Given the description of an element on the screen output the (x, y) to click on. 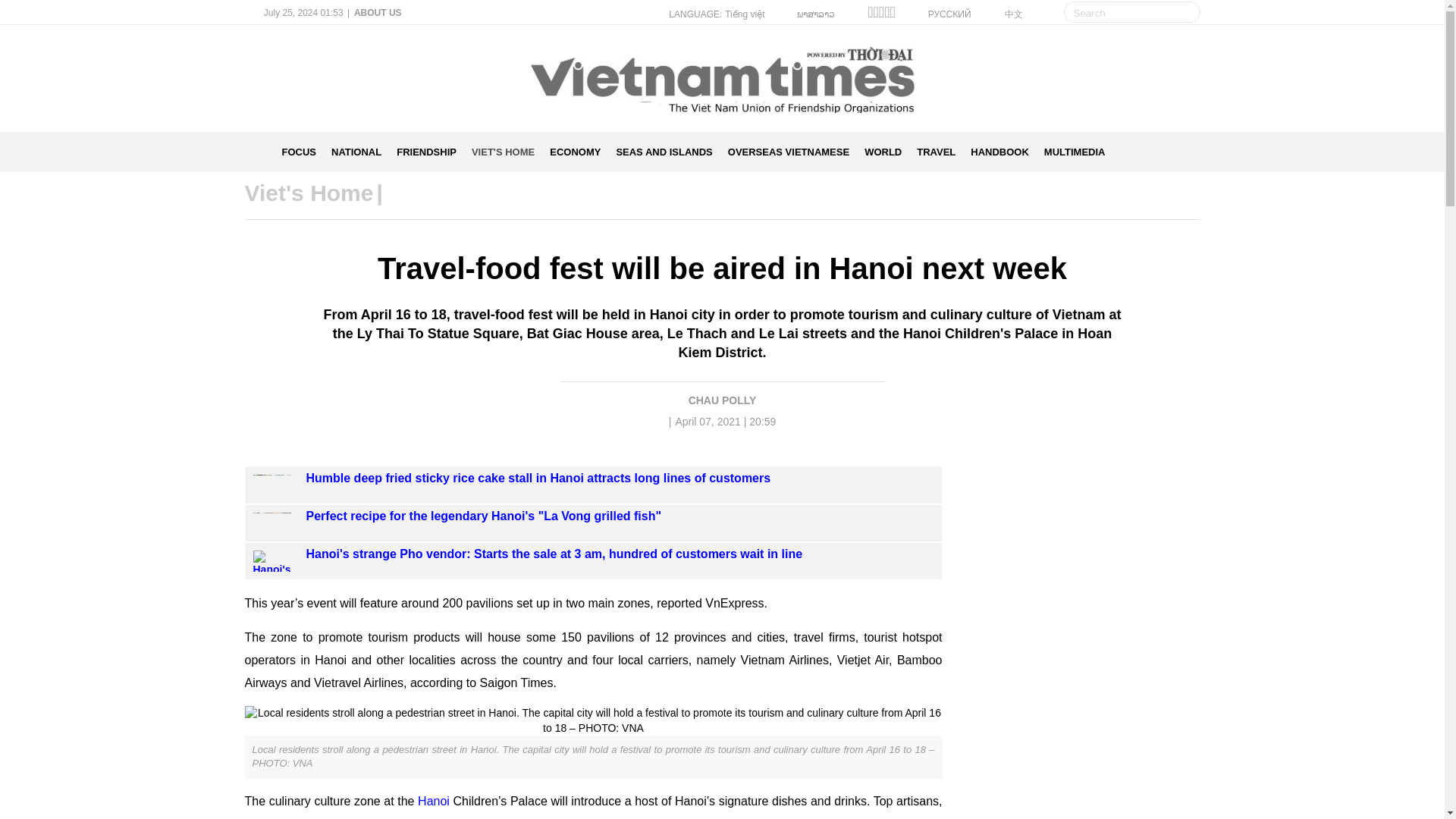
FRIENDSHIP (426, 152)
MULTIMEDIA (1074, 152)
Hanoi (434, 800)
food (255, 818)
OVERSEAS VIETNAMESE (788, 152)
Viet's Home (308, 192)
Vietnam Times (258, 151)
WORLD (882, 152)
ECONOMY (574, 152)
SEAS AND ISLANDS (663, 152)
